Given the description of an element on the screen output the (x, y) to click on. 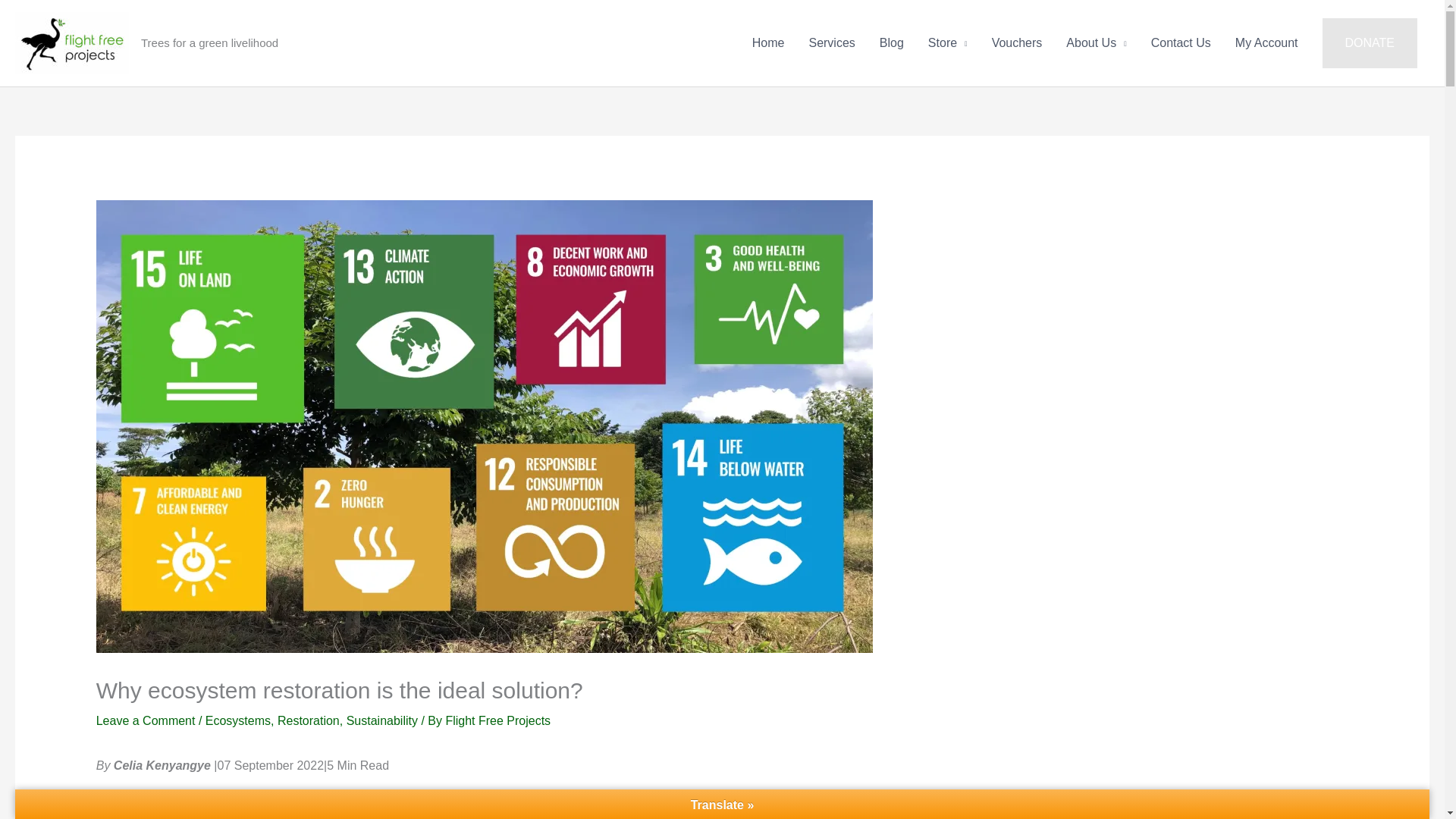
Contact Us (1180, 42)
Blog (891, 42)
Flight Free Projects (497, 720)
View all posts by Flight Free Projects (497, 720)
Store (947, 42)
Services (831, 42)
About Us (1096, 42)
Ecosystems (237, 720)
Vouchers (1016, 42)
Leave a Comment (145, 720)
